Given the description of an element on the screen output the (x, y) to click on. 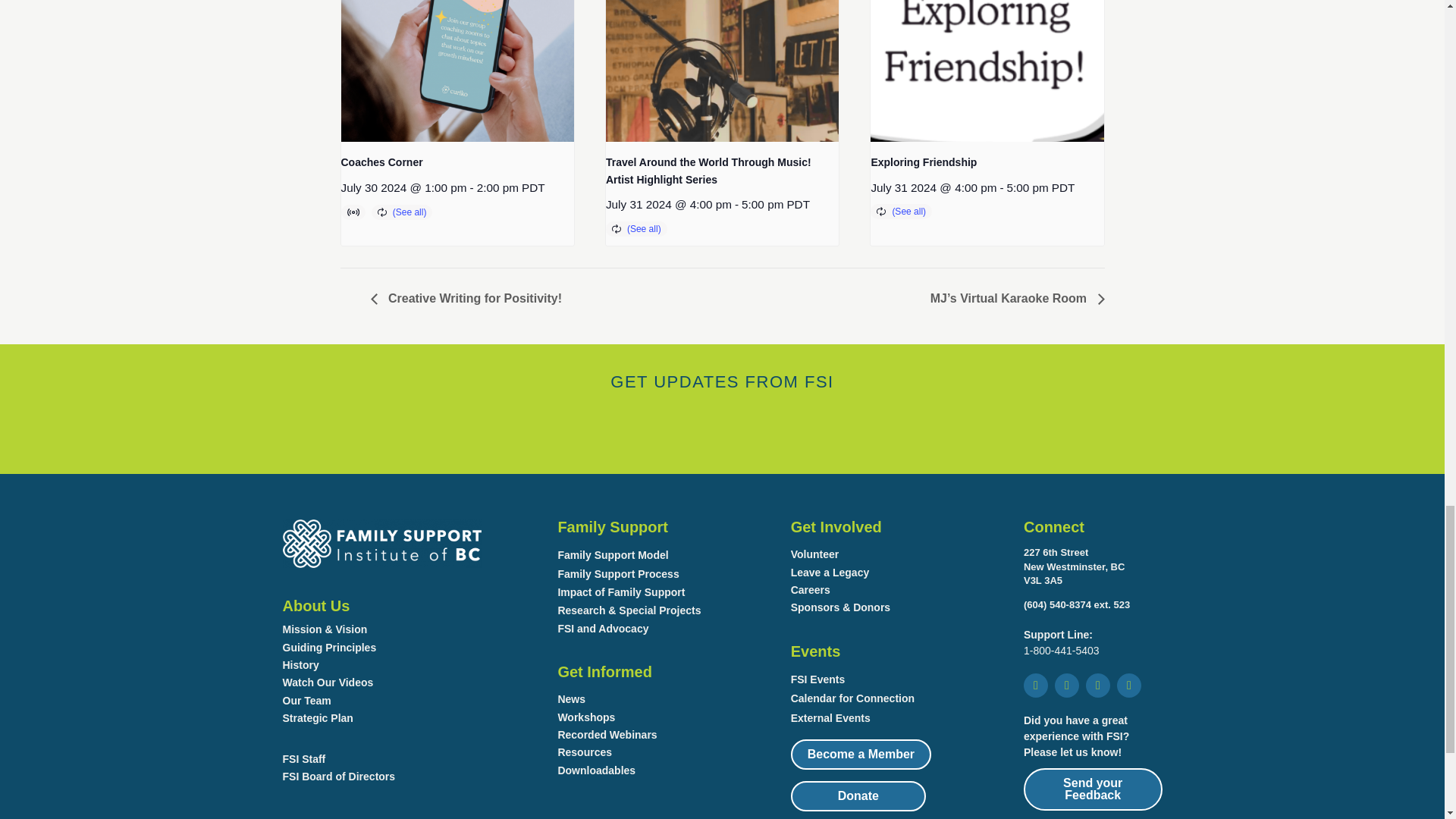
Virtual Event (354, 212)
